Given the description of an element on the screen output the (x, y) to click on. 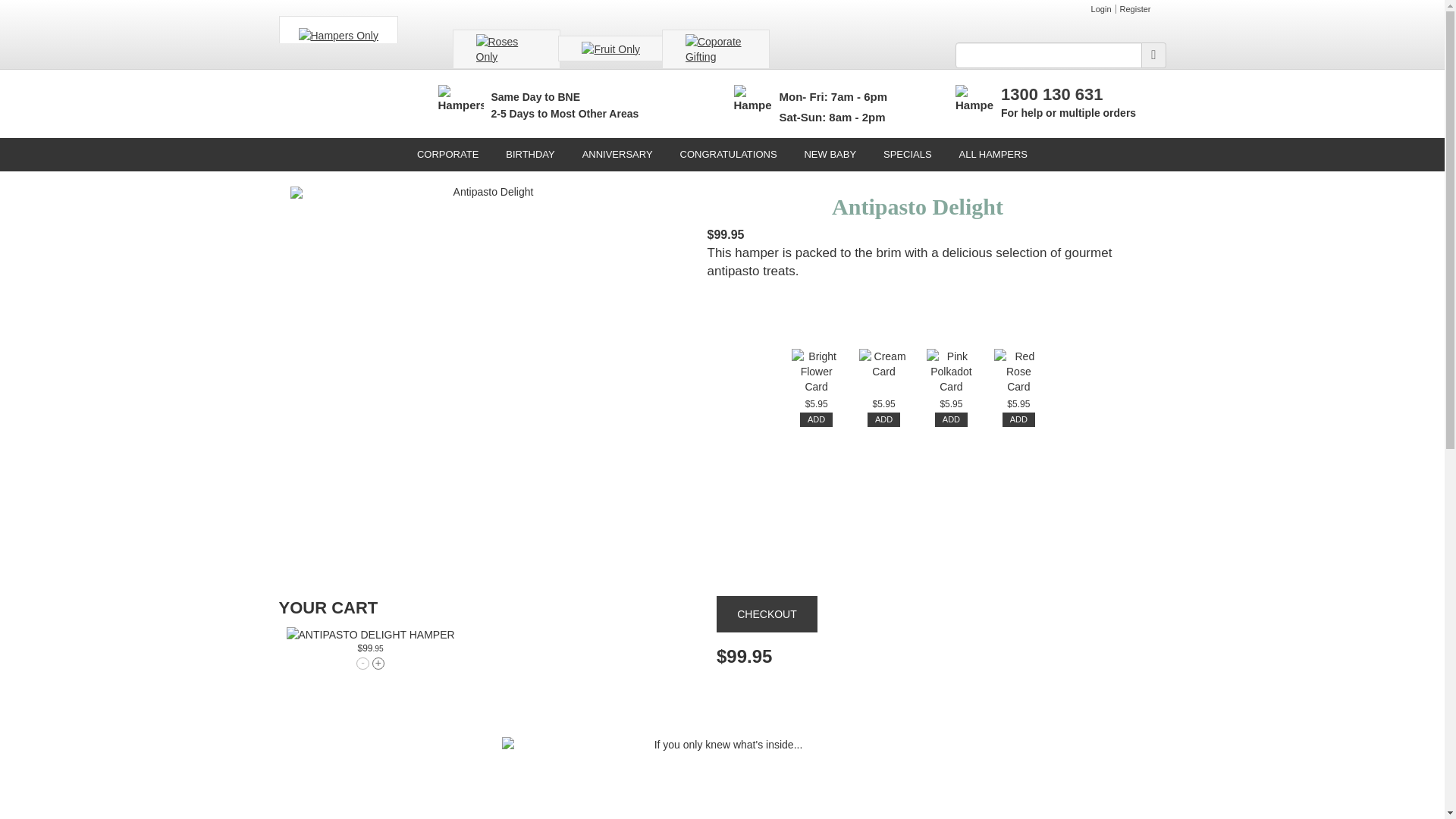
Login Element type: text (1101, 8)
Pink Polkadot Card Element type: hover (950, 373)
1300 130 631 Element type: text (1052, 93)
+ Element type: text (378, 663)
Register Element type: text (1135, 8)
$5.95
ADD Element type: text (815, 412)
- Element type: text (362, 663)
BIRTHDAY Element type: text (530, 154)
SPECIALS Element type: text (907, 154)
Cream Card Element type: hover (883, 373)
$5.95
ADD Element type: text (883, 412)
ALL HAMPERS Element type: text (992, 154)
NEW BABY Element type: text (829, 154)
CORPORATE Element type: text (447, 154)
Red Rose Card Element type: hover (1018, 373)
Antipasto Delight by Hampers Only Element type: hover (370, 634)
ANNIVERSARY Element type: text (617, 154)
$5.95
ADD Element type: text (950, 412)
CONGRATULATIONS Element type: text (727, 154)
$5.95
ADD Element type: text (1018, 412)
Bright Flower Card Element type: hover (815, 373)
CHECKOUT Element type: text (766, 614)
